Given the description of an element on the screen output the (x, y) to click on. 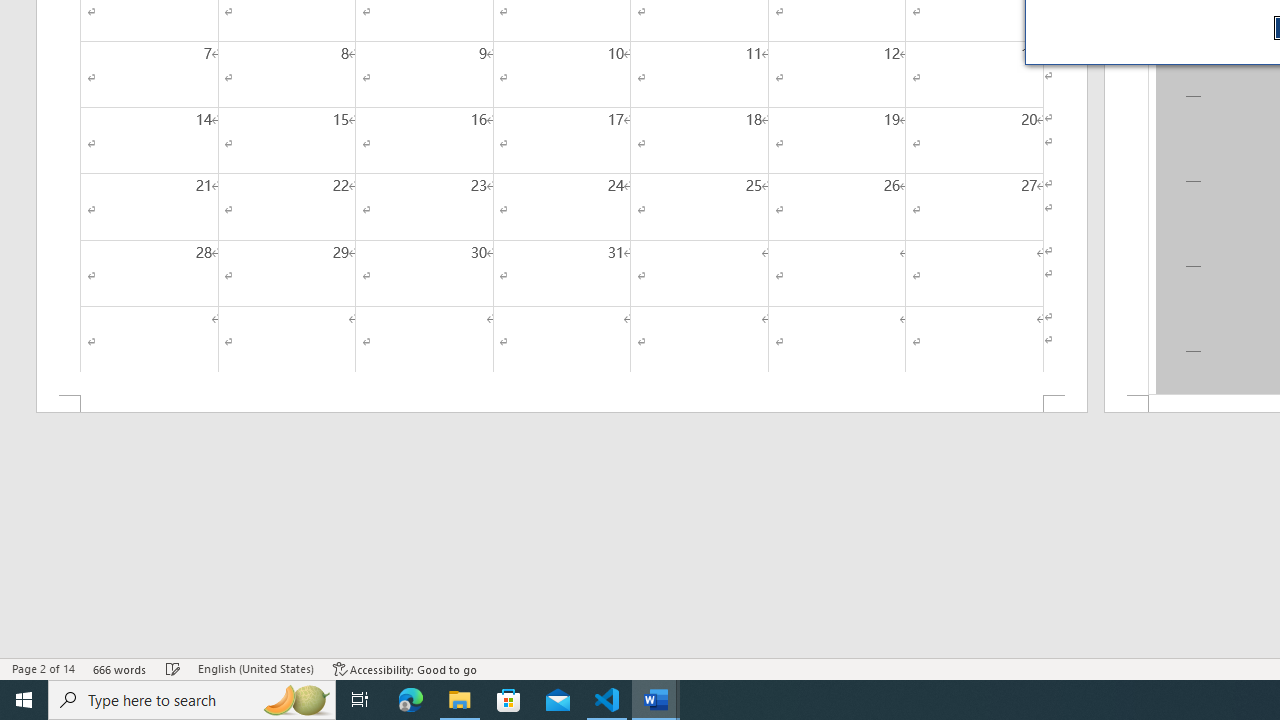
Microsoft Edge (411, 699)
Page Number Page 2 of 14 (43, 668)
Word - 2 running windows (656, 699)
Word Count 666 words (119, 668)
File Explorer - 1 running window (460, 699)
